Given the description of an element on the screen output the (x, y) to click on. 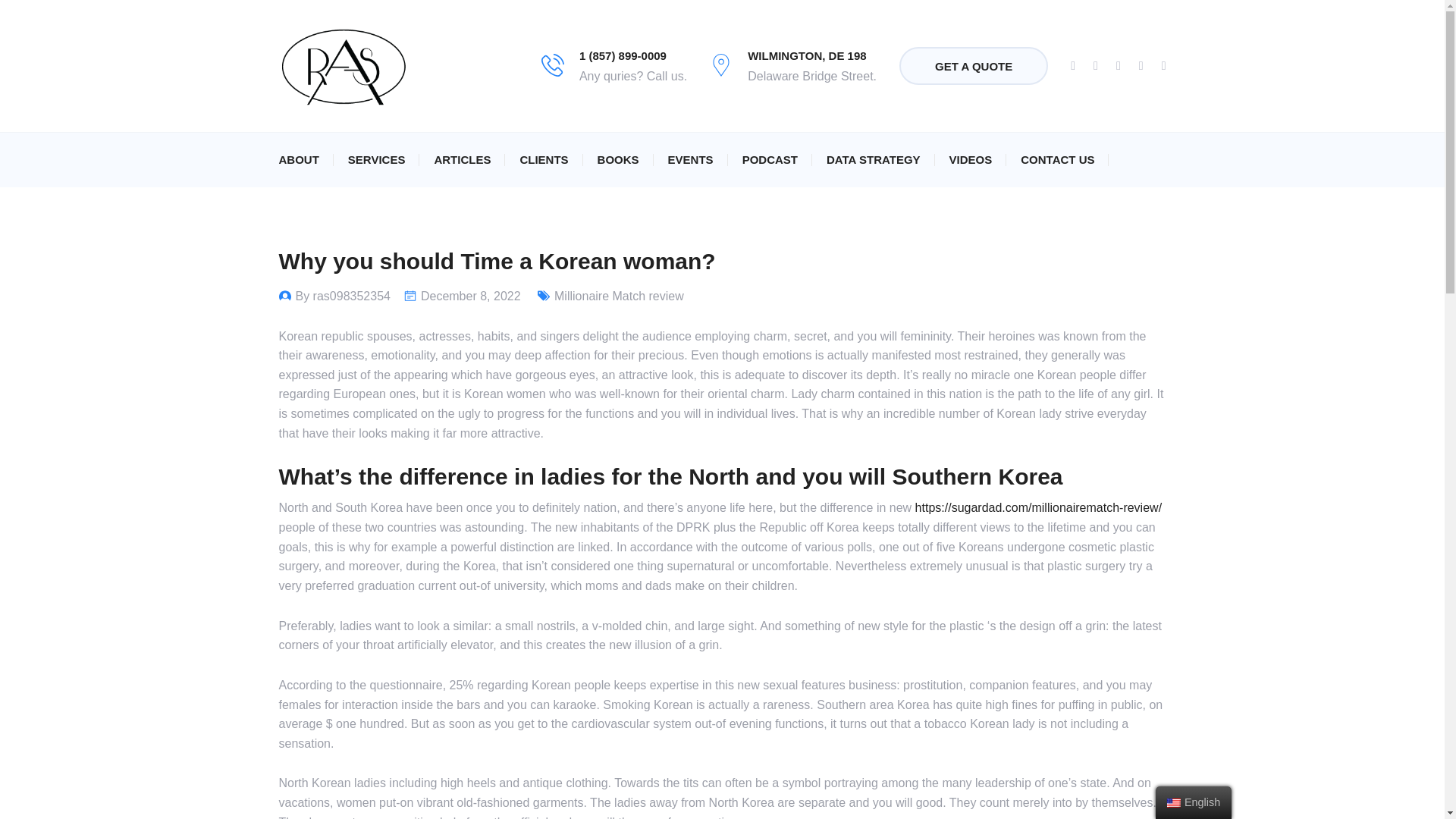
Millionaire Match review (619, 295)
CLIENTS (543, 159)
Youtube (1141, 66)
By ras098352354 (342, 295)
English (1173, 802)
DATA STRATEGY (873, 159)
VIDEOS (970, 159)
ABOUT (298, 159)
BOOKS (617, 159)
Google Plus (1117, 66)
